Given the description of an element on the screen output the (x, y) to click on. 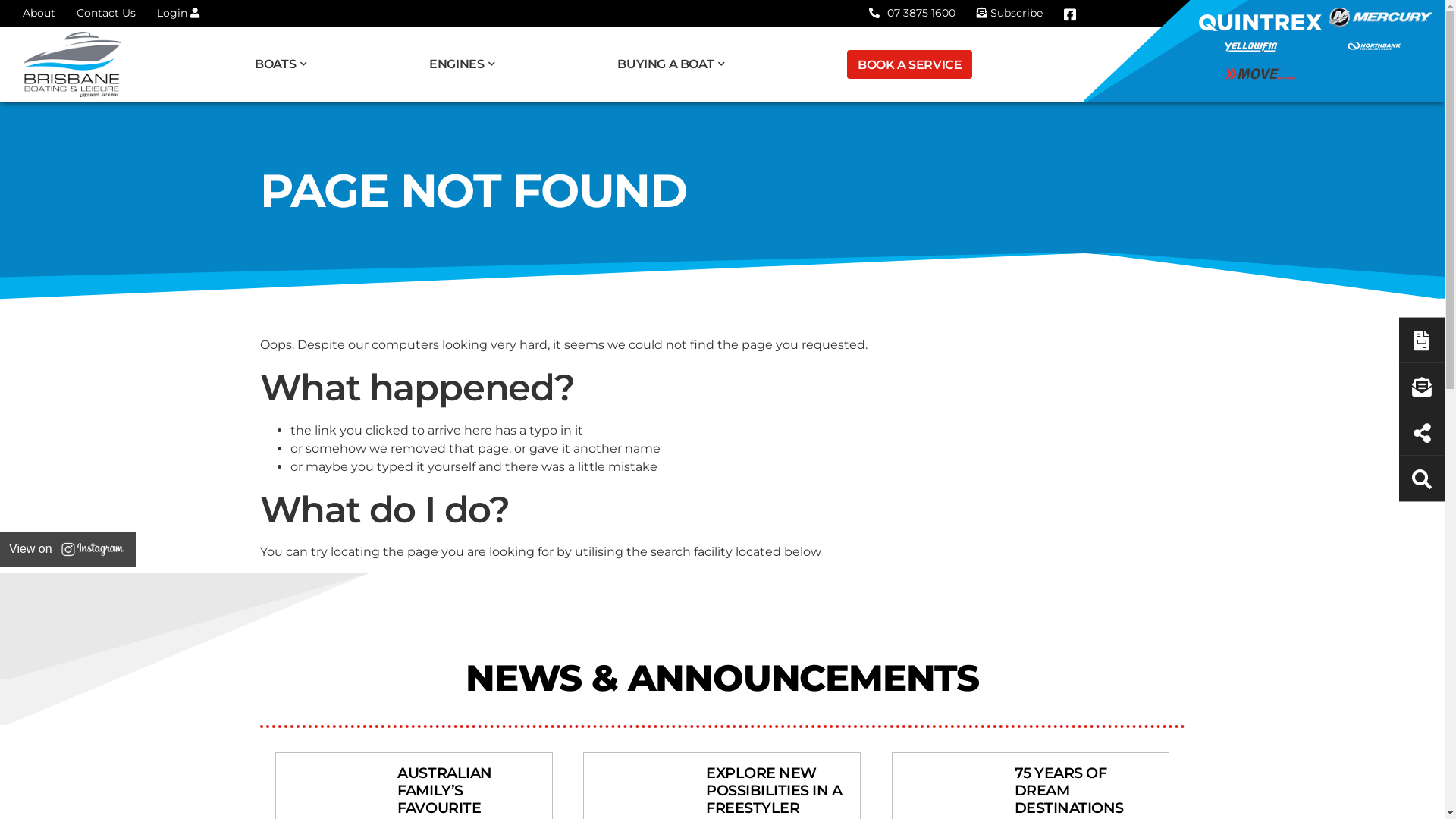
Login Element type: text (177, 12)
Contact Us Element type: text (105, 12)
View on Element type: text (68, 549)
BOOK A SERVICE Element type: text (909, 64)
ENGINES Element type: text (467, 64)
BOATS Element type: text (286, 64)
Subscribe Element type: text (1009, 12)
07 3875 1600 Element type: text (912, 12)
BUYING A BOAT Element type: text (676, 64)
About Element type: text (38, 12)
